Given the description of an element on the screen output the (x, y) to click on. 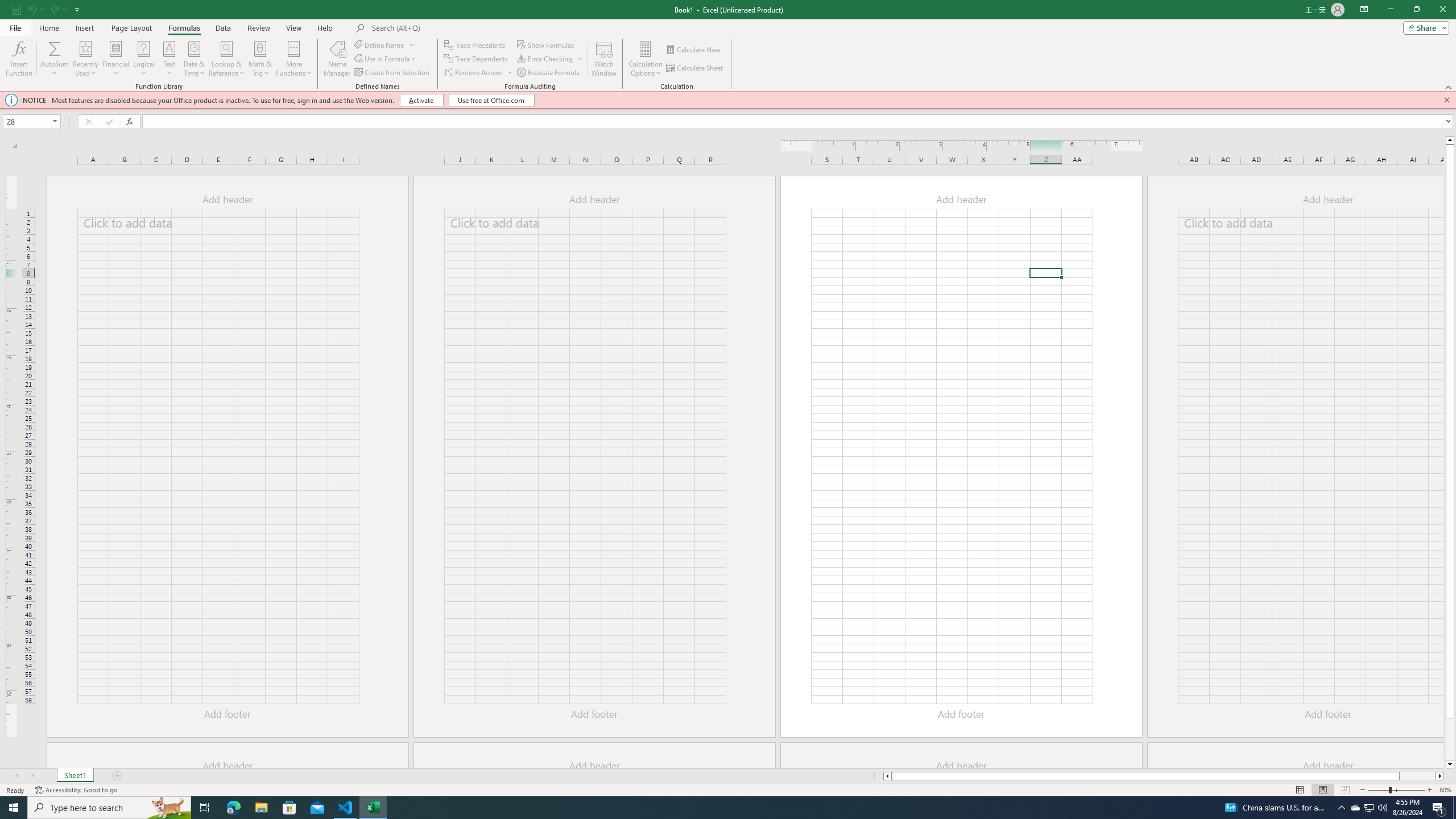
Class: MsoCommandBar (728, 45)
Financial (116, 58)
Name Manager (336, 58)
Trace Precedents (475, 44)
AutoSum (54, 58)
Trace Dependents (477, 58)
